Given the description of an element on the screen output the (x, y) to click on. 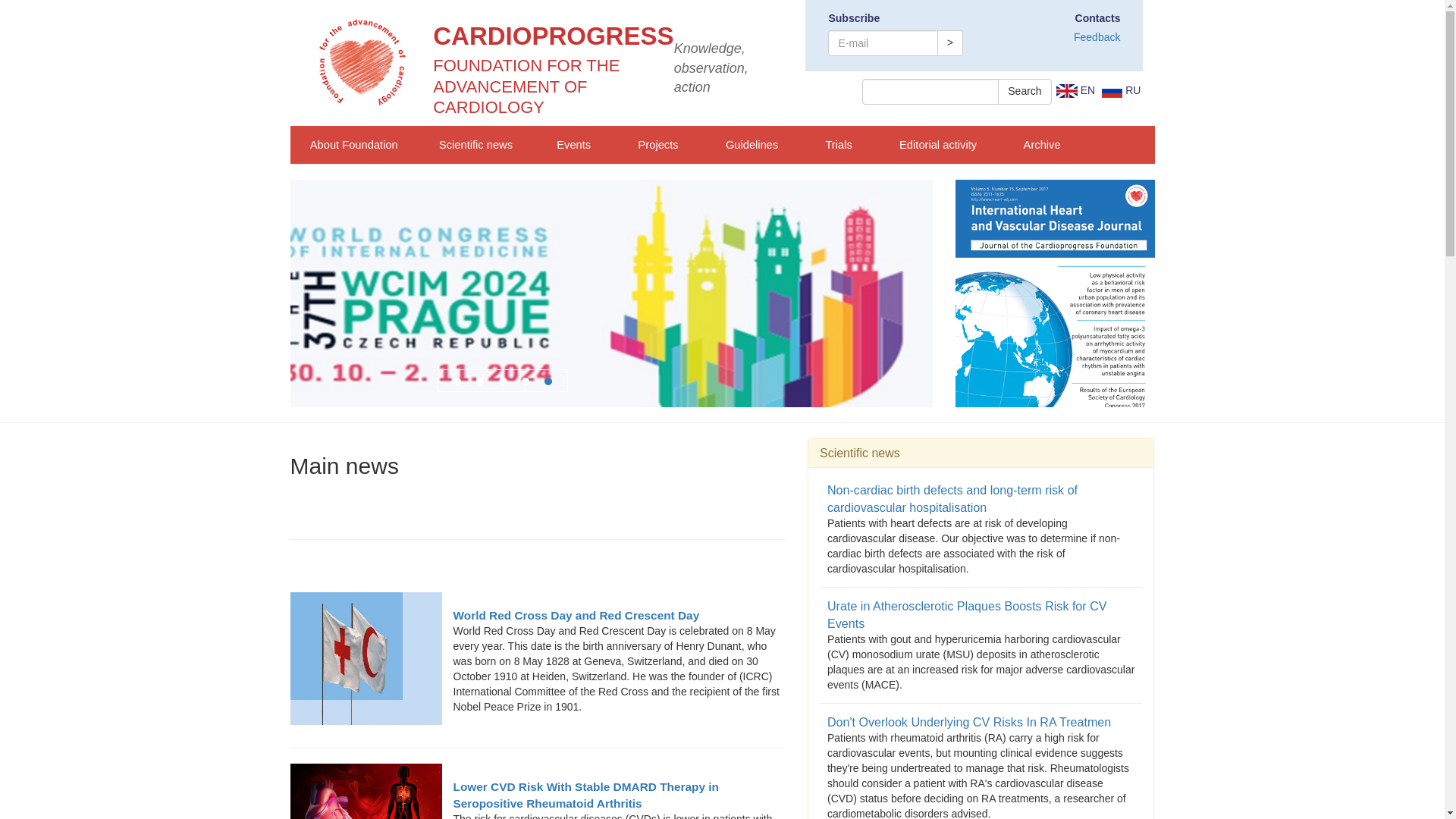
RU (1120, 90)
World Red Cross Day and Red Crescent Day (536, 615)
  Events   (573, 144)
  Archive   (1042, 144)
 Scientific news  (475, 144)
EN (1075, 90)
  Projects   (657, 144)
 About Foundation  (353, 144)
Feedback (1096, 37)
  Guidelines   (751, 144)
Search (1024, 91)
  Trials   (838, 144)
Search (1024, 91)
  Editorial activity   (938, 144)
